Given the description of an element on the screen output the (x, y) to click on. 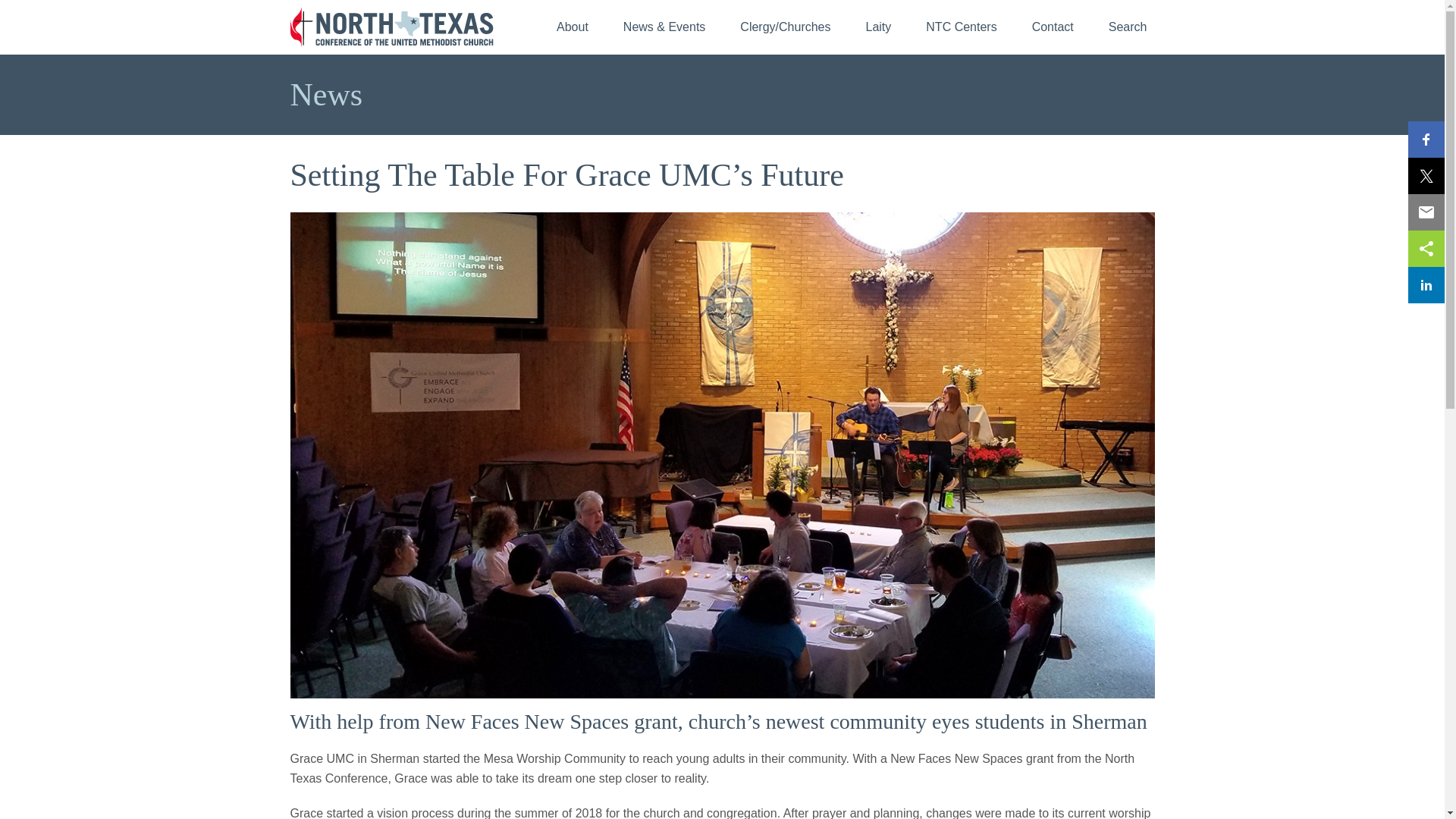
About (572, 27)
